Given the description of an element on the screen output the (x, y) to click on. 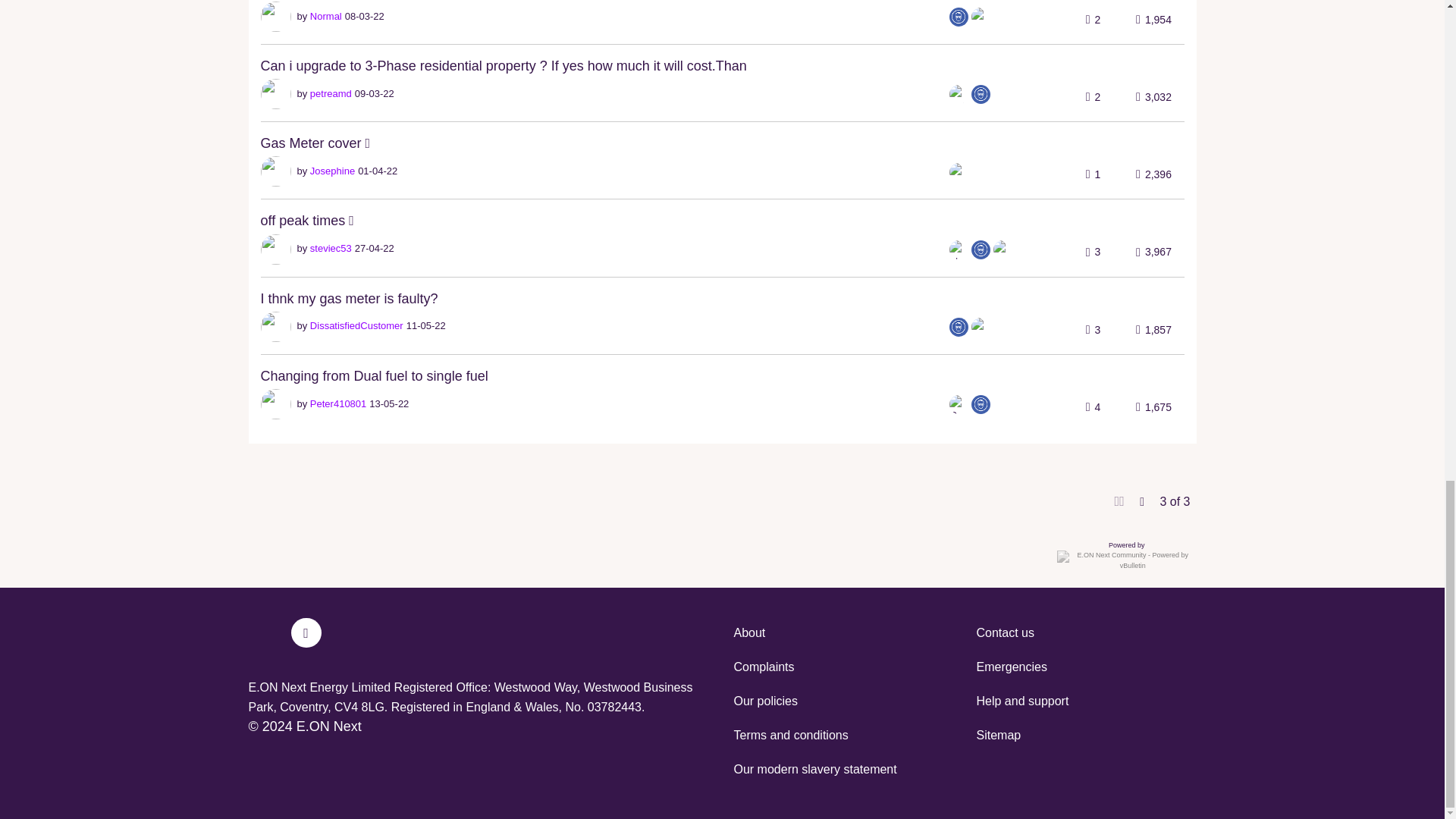
theunknowntech (958, 16)
meldrewreborn (980, 16)
